Given the description of an element on the screen output the (x, y) to click on. 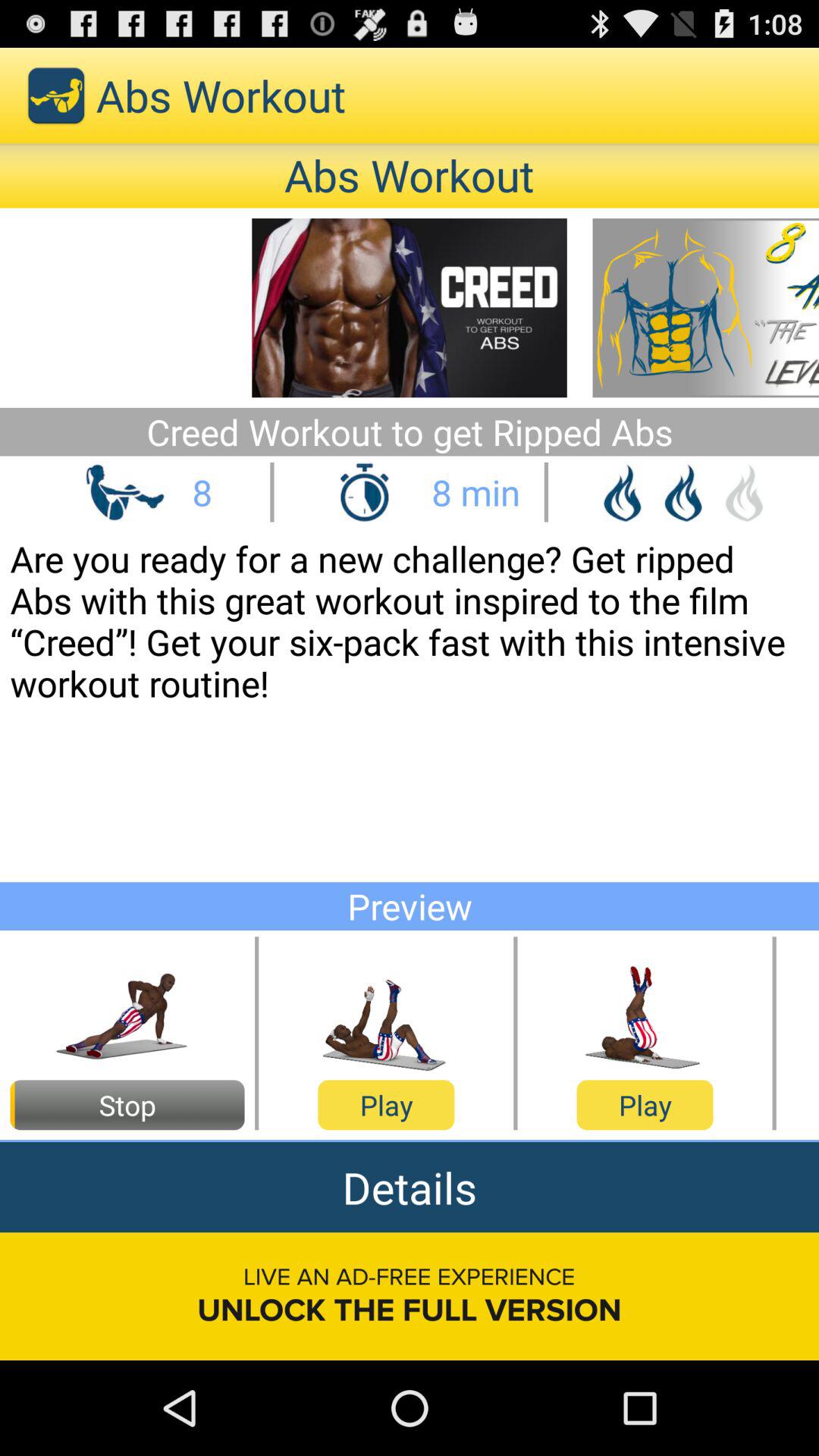
launch the stop button (127, 1105)
